Given the description of an element on the screen output the (x, y) to click on. 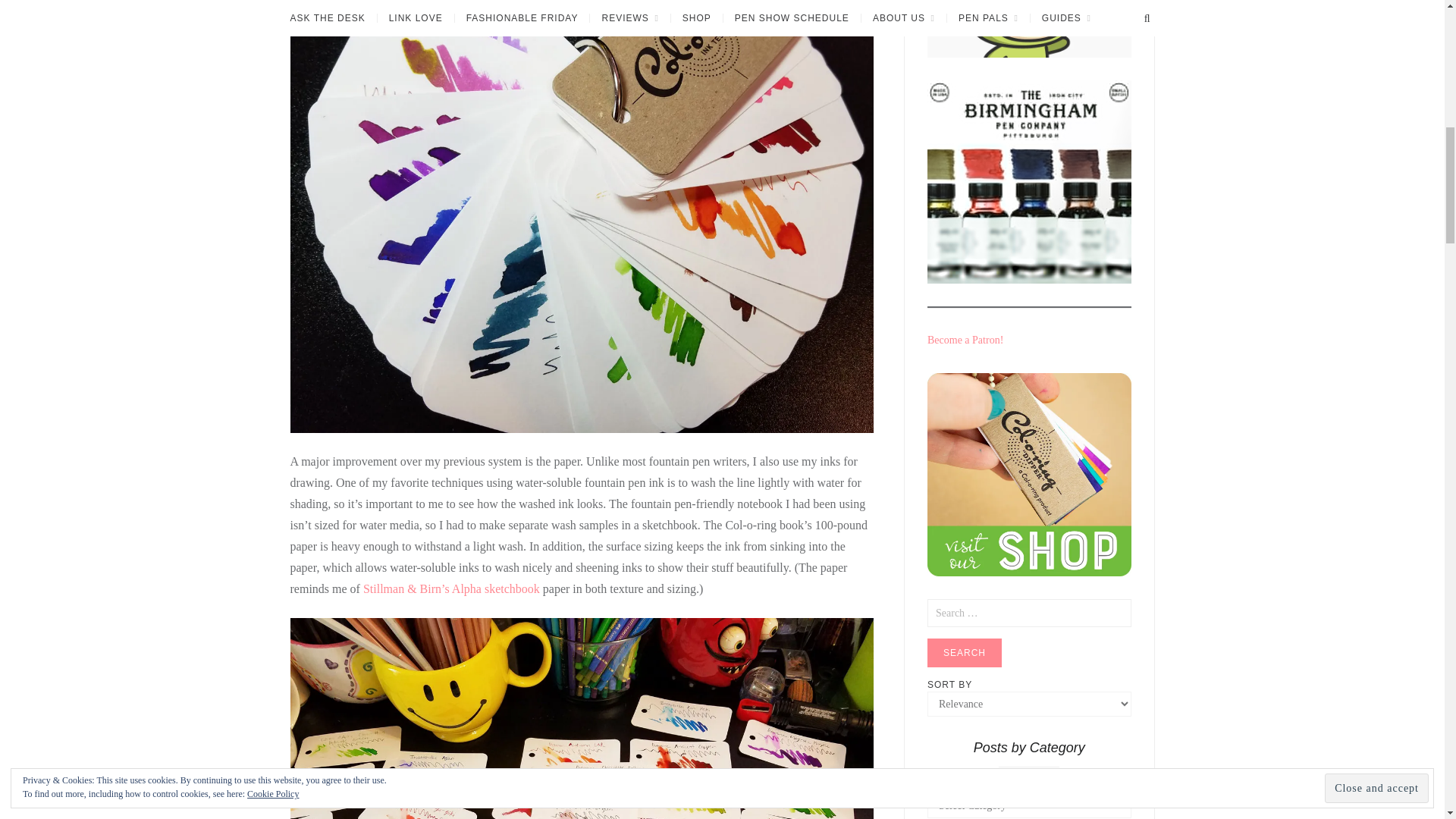
Search (964, 652)
Search (964, 652)
